Given the description of an element on the screen output the (x, y) to click on. 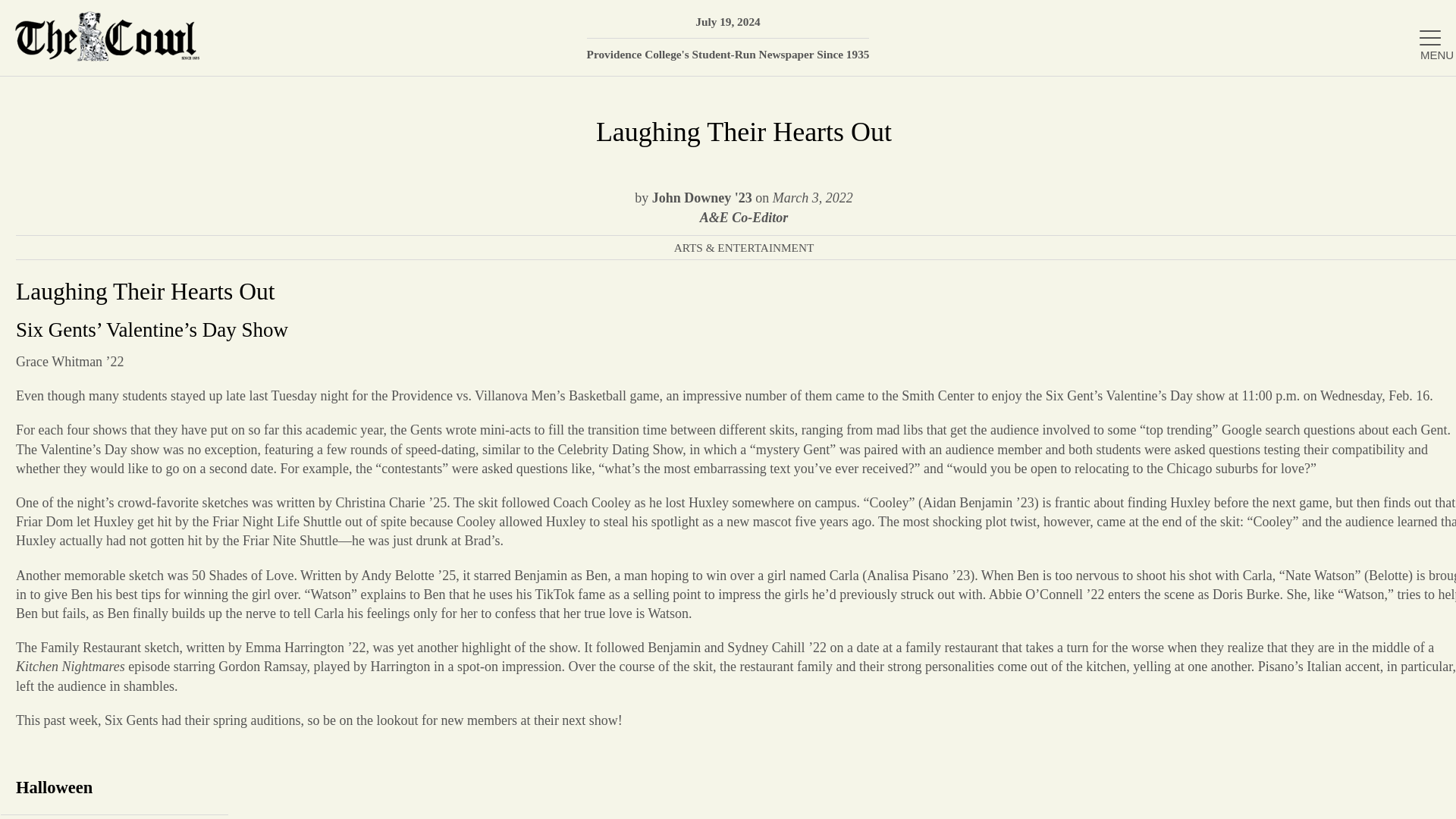
Letters to the Editor (1275, 420)
Portfolio (1275, 321)
Search (1422, 19)
Opinion (1275, 272)
Home (1275, 74)
Search (1422, 19)
Sports (1275, 370)
Search (1422, 19)
Halloween (114, 787)
About Us (1275, 124)
News (1275, 174)
